Given the description of an element on the screen output the (x, y) to click on. 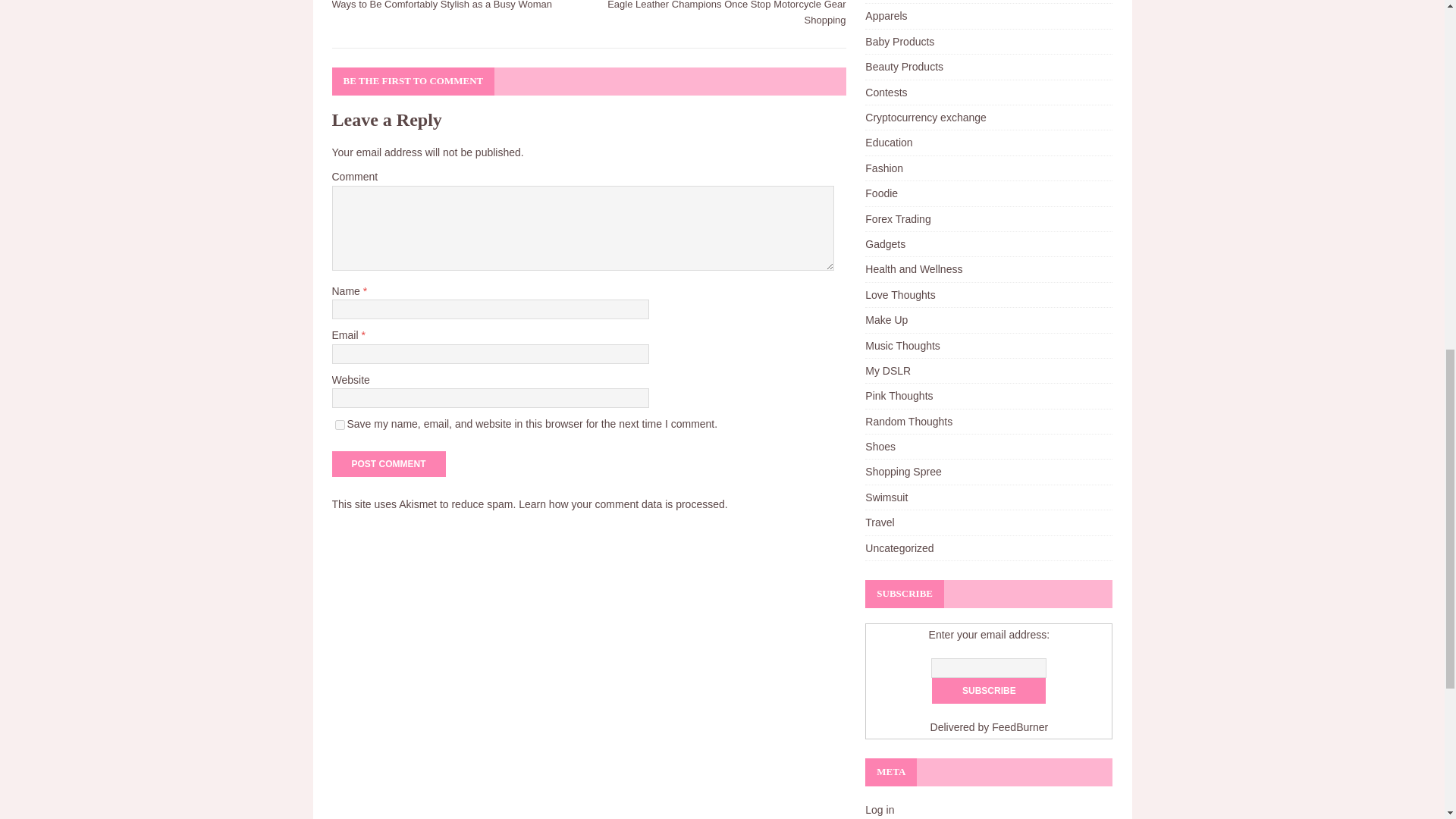
Contests (988, 92)
Baby Products (988, 41)
Beauty Products (988, 66)
Cryptocurrency exchange (988, 117)
Subscribe (988, 690)
yes (339, 424)
Learn how your comment data is processed (621, 503)
Accessories (988, 1)
Post Comment (388, 463)
